Given the description of an element on the screen output the (x, y) to click on. 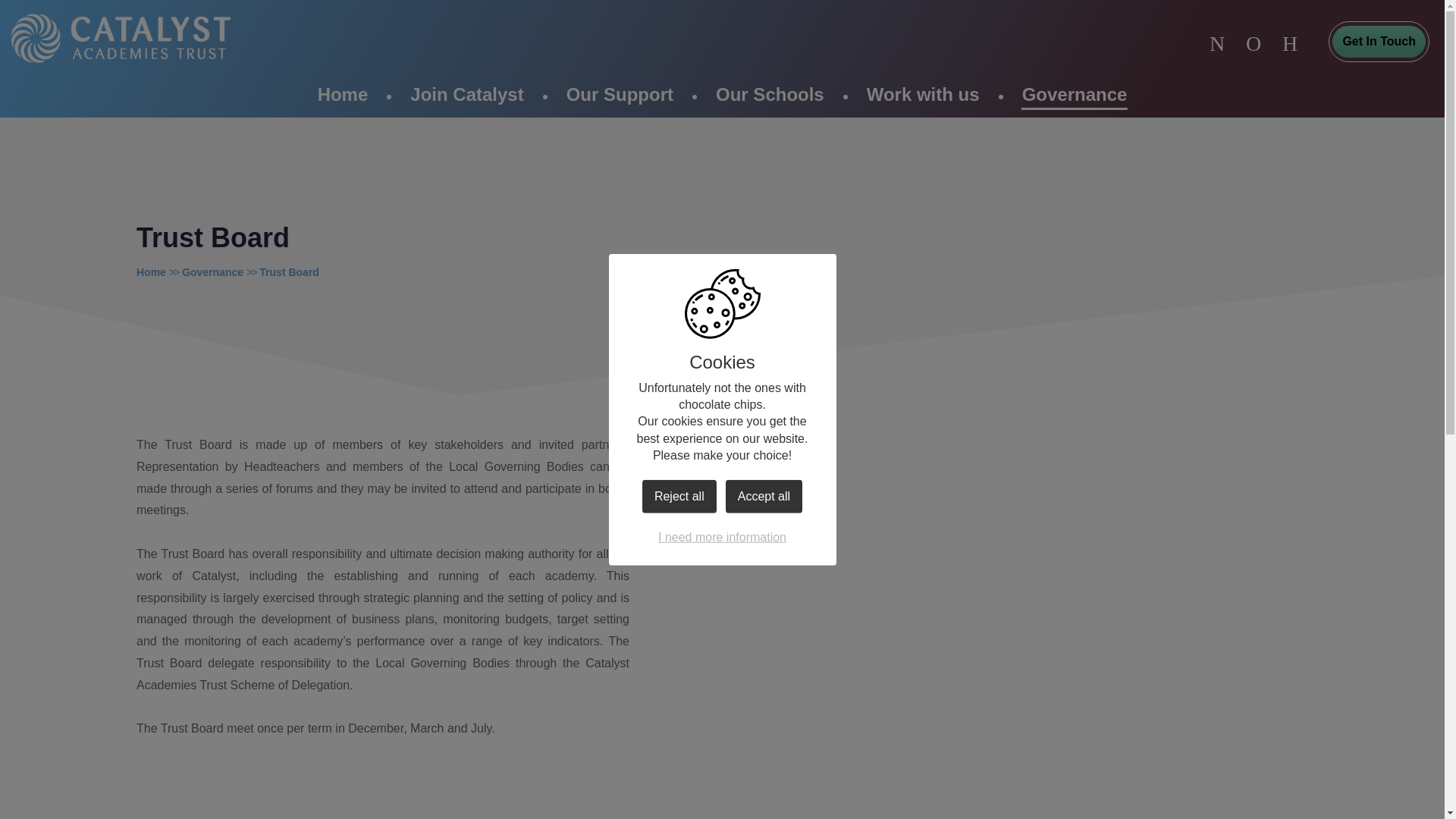
Home (342, 94)
Google Translate (1253, 43)
Governance (212, 272)
Twitter (1216, 43)
Home (150, 272)
Join Catalyst (466, 94)
Get In Touch (1378, 41)
Twitter Link (1216, 43)
Home Page (120, 38)
Our Support (620, 94)
